Given the description of an element on the screen output the (x, y) to click on. 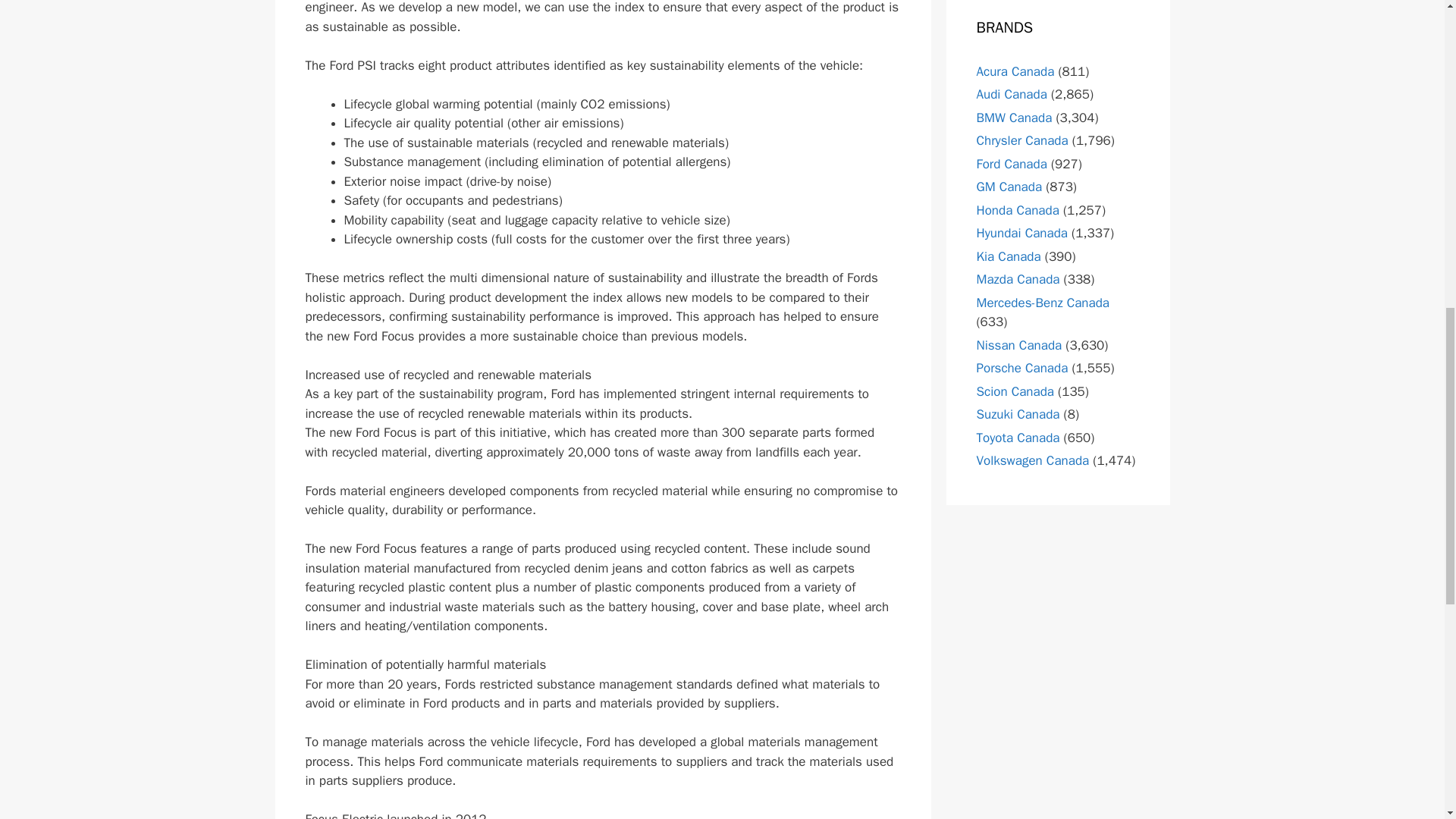
Volkswagen Canada (1032, 460)
Scion Canada (1015, 391)
Hyundai Canada (1022, 232)
Toyota Canada (1017, 437)
Scroll back to top (1406, 720)
BMW Canada (1014, 117)
Audi Canada (1011, 94)
Honda Canada (1017, 210)
Ford Canada (1011, 163)
Mercedes-Benz Canada (1042, 302)
